Given the description of an element on the screen output the (x, y) to click on. 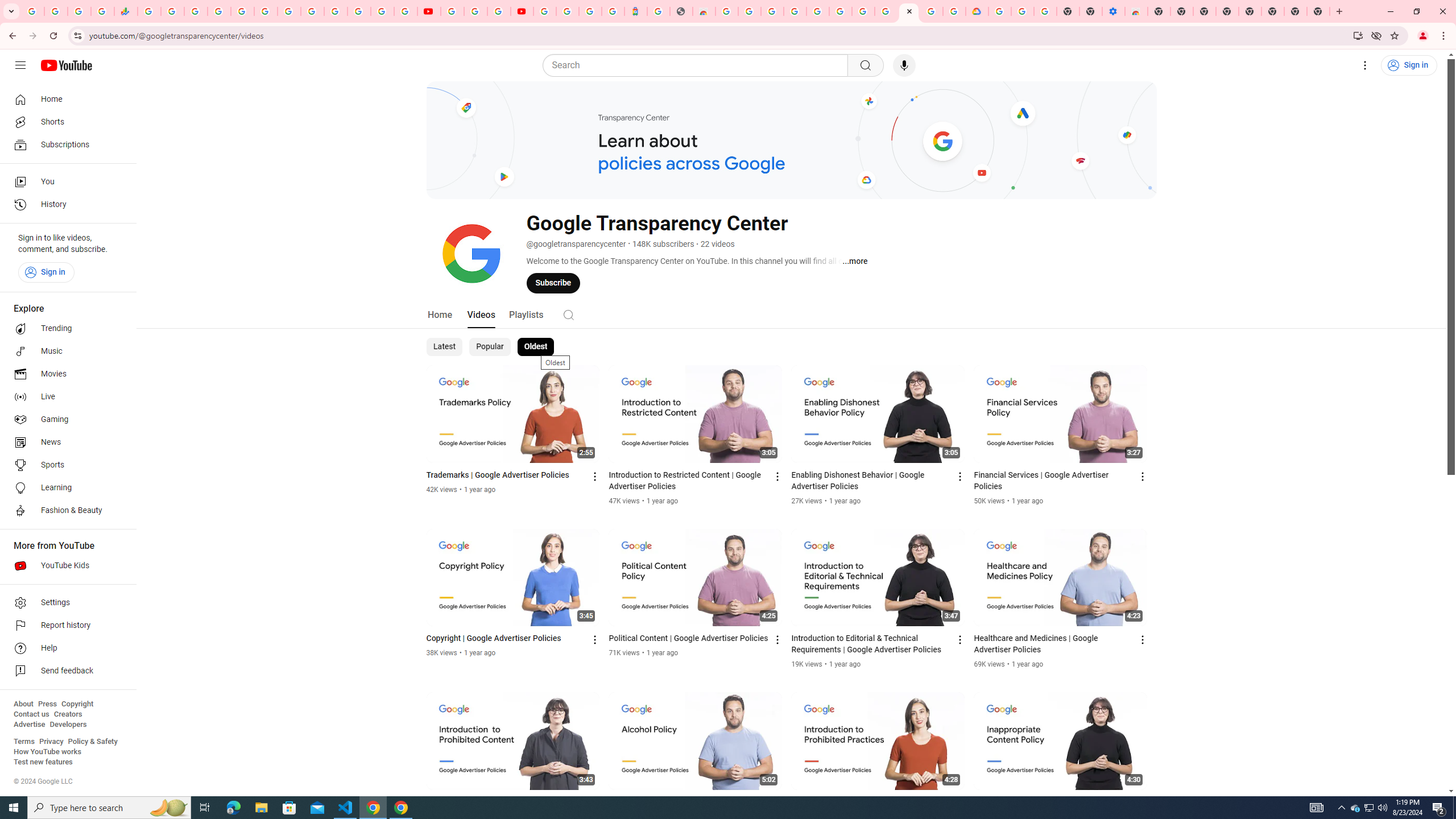
Shorts (64, 121)
Popular (489, 346)
Google Workspace Admin Community (32, 11)
Learning (64, 487)
Chrome Web Store - Accessibility extensions (1136, 11)
Playlists (525, 314)
Terms (23, 741)
Install YouTube (1358, 35)
Help (64, 648)
Search with your voice (903, 65)
